Given the description of an element on the screen output the (x, y) to click on. 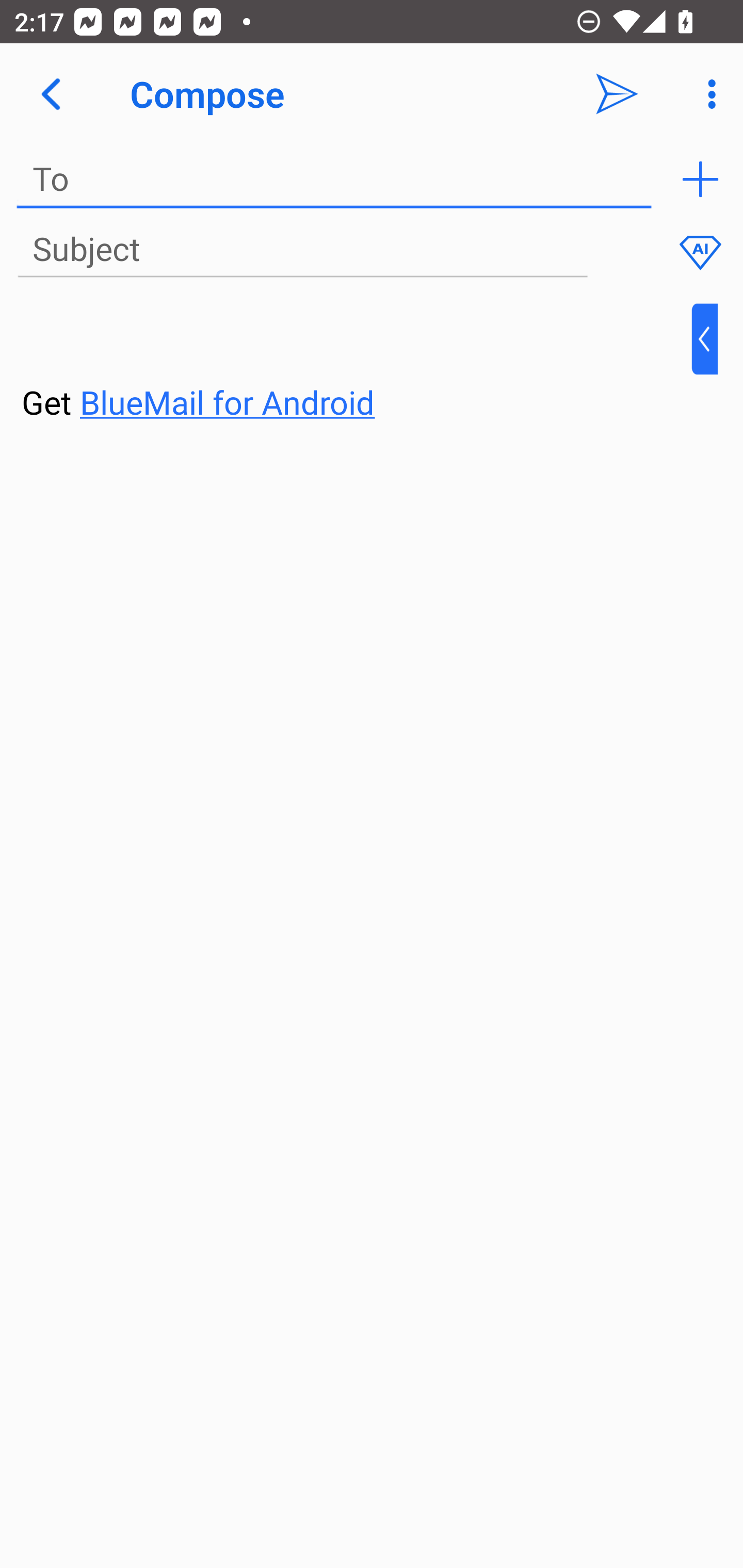
Navigate up (50, 93)
Send (616, 93)
More Options (706, 93)
To (334, 179)
Add recipient (To) (699, 179)
Subject (302, 249)


⁣Get BlueMail for Android ​ (355, 363)
